Given the description of an element on the screen output the (x, y) to click on. 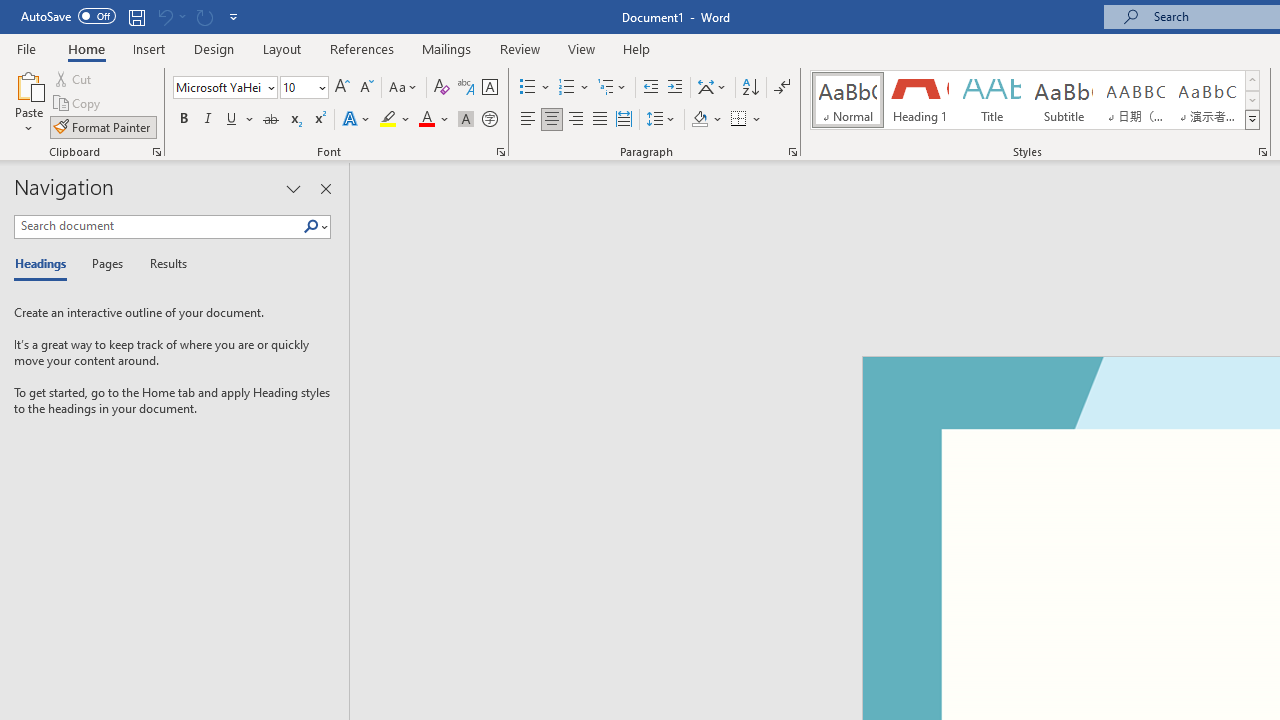
Distributed (623, 119)
Heading 1 (920, 100)
Customize Quick Access Toolbar (234, 15)
Font (224, 87)
Show/Hide Editing Marks (781, 87)
Cut (73, 78)
Font Color Red (426, 119)
Home (86, 48)
Multilevel List (613, 87)
Text Effects and Typography (357, 119)
System (10, 11)
Title (991, 100)
Superscript (319, 119)
Center (552, 119)
References (362, 48)
